Given the description of an element on the screen output the (x, y) to click on. 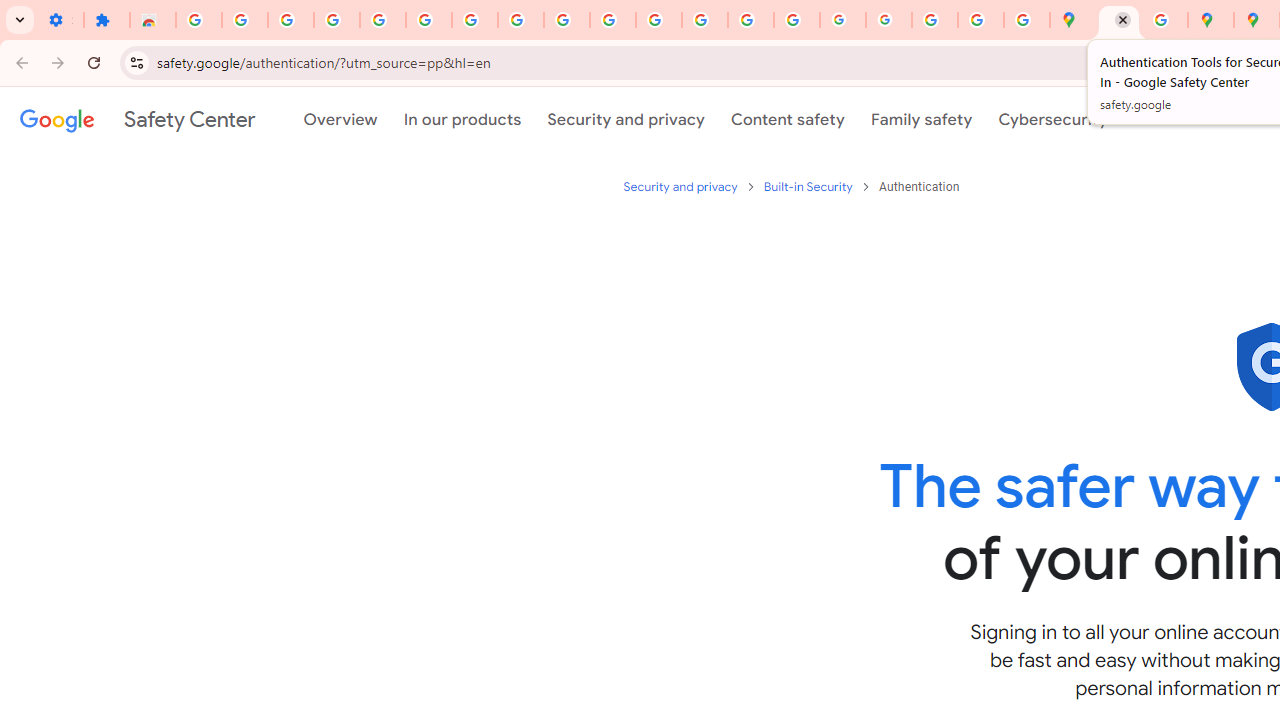
Safety in Our Products - Google Safety Center (1164, 20)
Google Maps (1072, 20)
Sign in - Google Accounts (198, 20)
Safety Center (137, 119)
Family safety (921, 119)
Reviews: Helix Fruit Jump Arcade Game (153, 20)
Built-in Security  (809, 186)
